Given the description of an element on the screen output the (x, y) to click on. 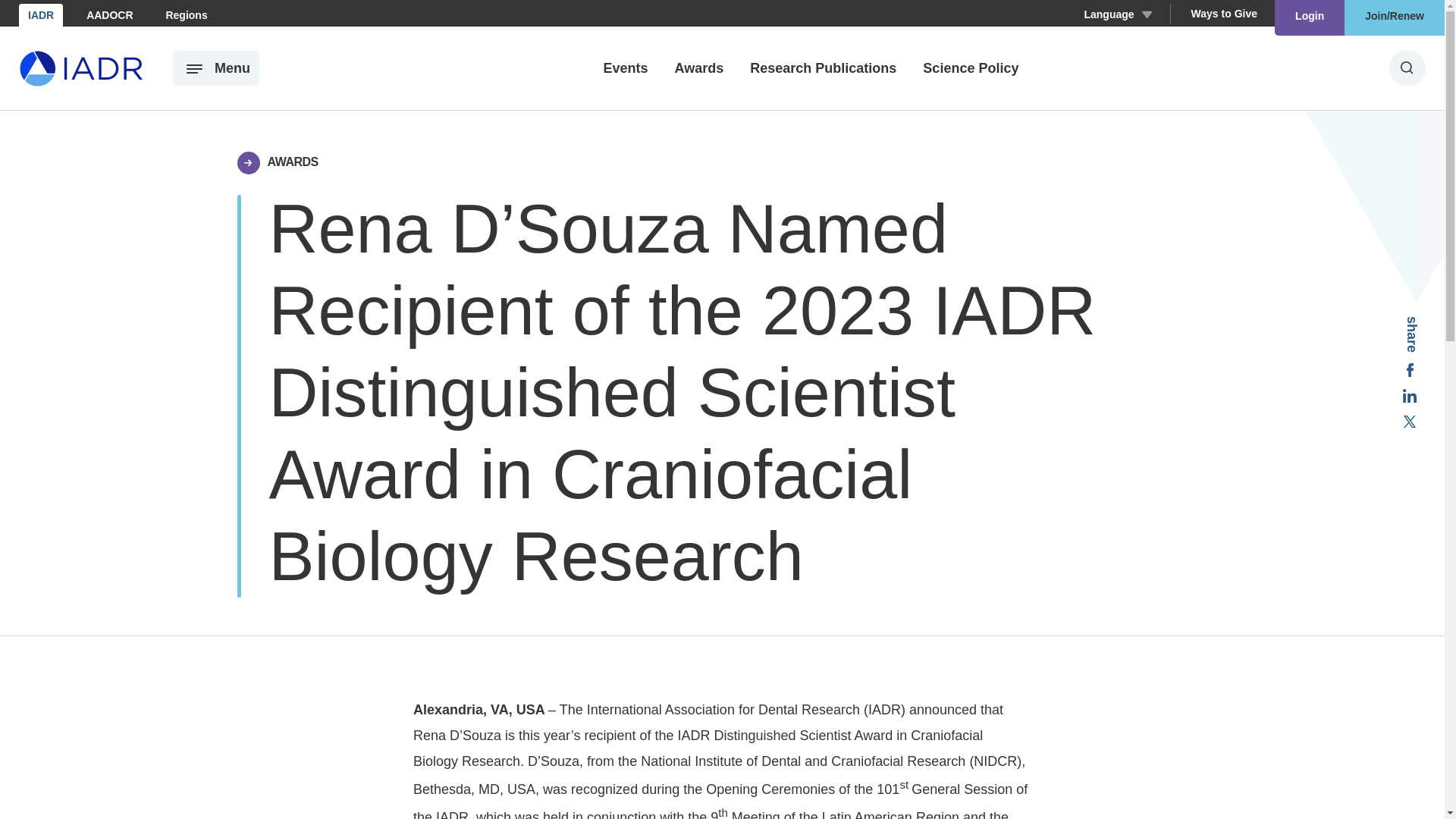
AADOCR (109, 15)
Science Policy (970, 68)
IADR (40, 15)
Language (1117, 15)
Menu (216, 67)
Regions (185, 15)
Research Publications (822, 68)
Login (1309, 18)
Events (625, 68)
Search IADR (1407, 67)
